Given the description of an element on the screen output the (x, y) to click on. 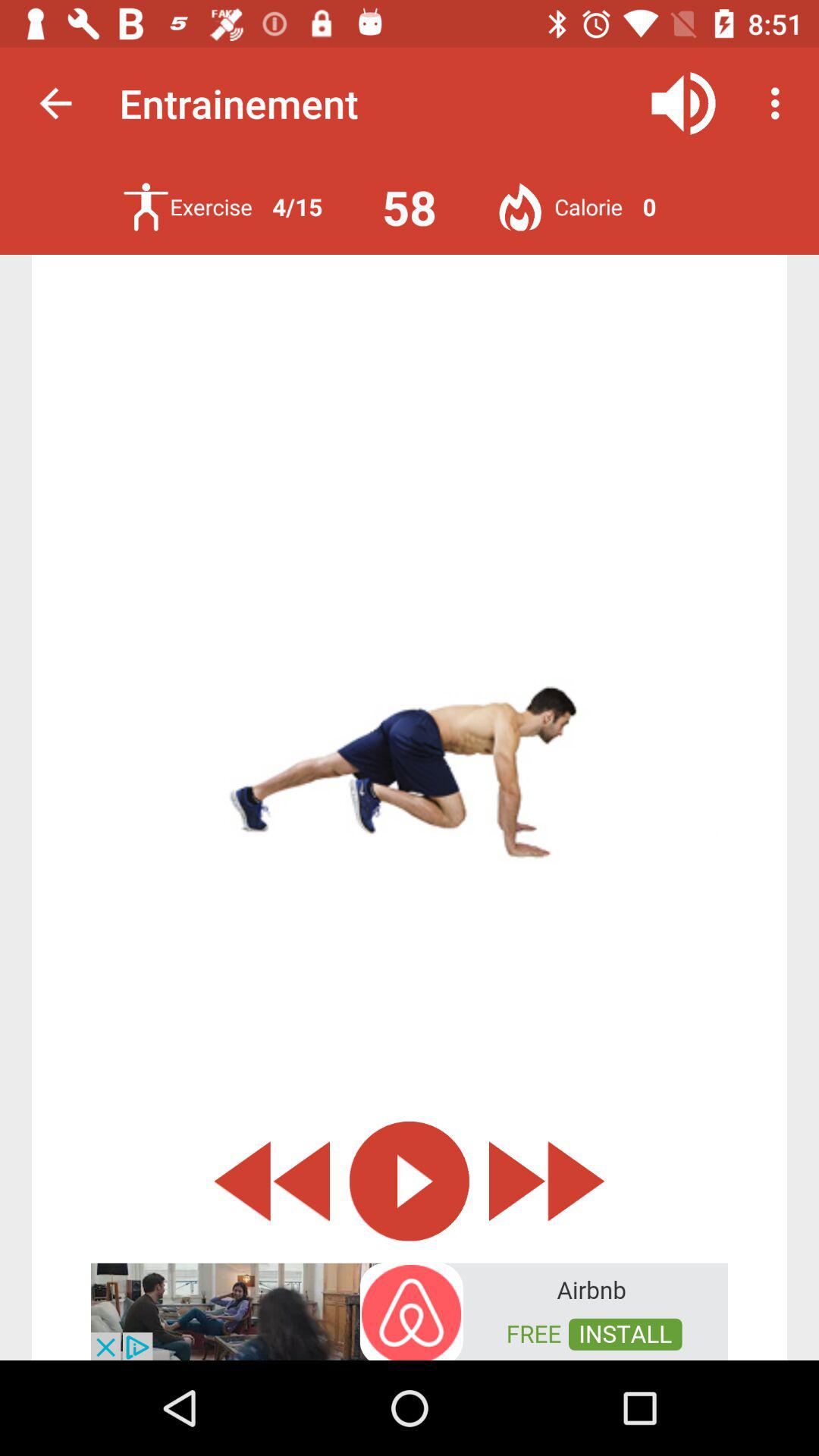
close the add (271, 1181)
